Given the description of an element on the screen output the (x, y) to click on. 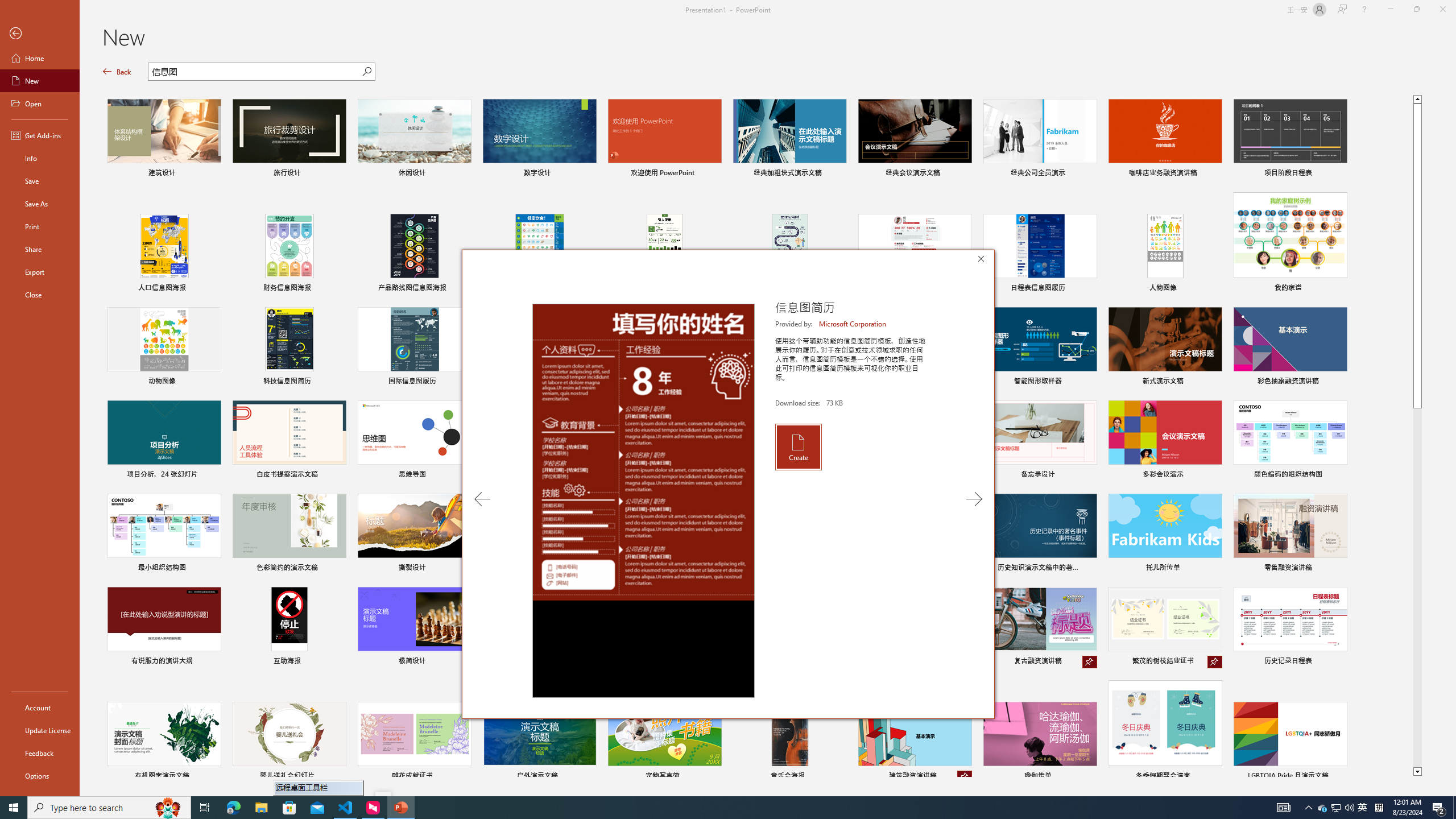
Task View (204, 807)
Running applications (700, 807)
Show desktop (1454, 807)
Notification Chevron (1308, 807)
New (40, 80)
Create (797, 446)
Next Template (974, 499)
